Given the description of an element on the screen output the (x, y) to click on. 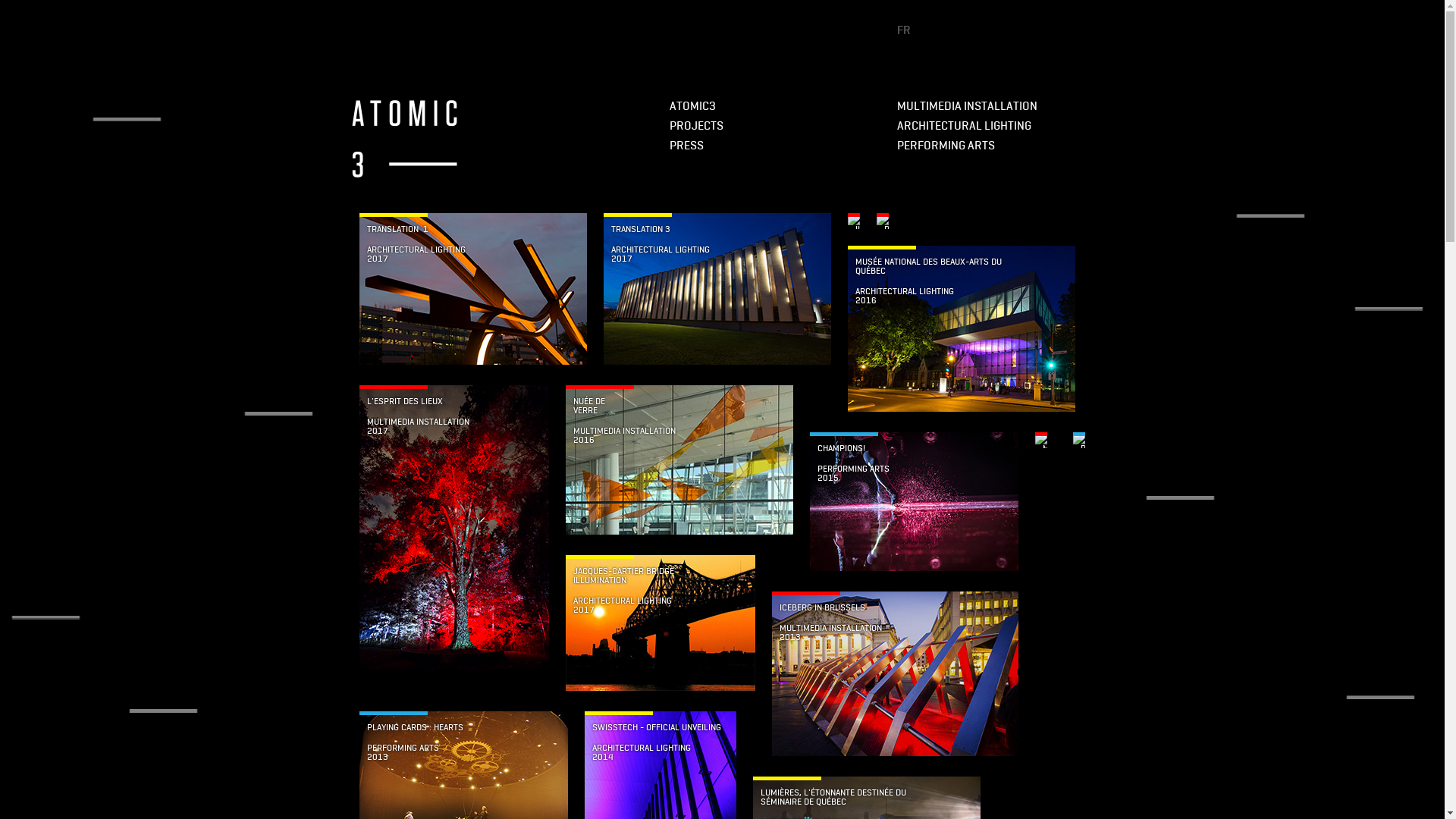
PRESS Element type: text (685, 145)
FR Element type: text (903, 29)
ATOMIC3 Element type: text (691, 105)
CHAMPIONS!
PERFORMING ARTS
2015
CHAMPIONS! Element type: text (913, 503)
PLAYING CARDS : SPADES
Playing cards : Spades Element type: text (1078, 440)
TRANSLATION  1
ARCHITECTURAL LIGHTING
2017
TRANSLATION  1 Element type: text (472, 290)
MAESTRO
MAESTRO Element type: text (1040, 440)
MULTIMEDIA INSTALLATION Element type: text (962, 105)
ARCHITECTURAL LIGHTING Element type: text (959, 125)
PRRR...
PRRR... Element type: text (882, 221)
ILOT DE CHALEUR    _V2
ILOT DE CHALEUR    _V2 Element type: text (853, 221)
TRANSLATION 3
ARCHITECTURAL LIGHTING
2017
TRANSLATION 3 Element type: text (717, 290)
PROJECTS Element type: text (695, 125)
PERFORMING ARTS Element type: text (941, 145)
ATOMIC3 Element type: hover (405, 138)
